Given the description of an element on the screen output the (x, y) to click on. 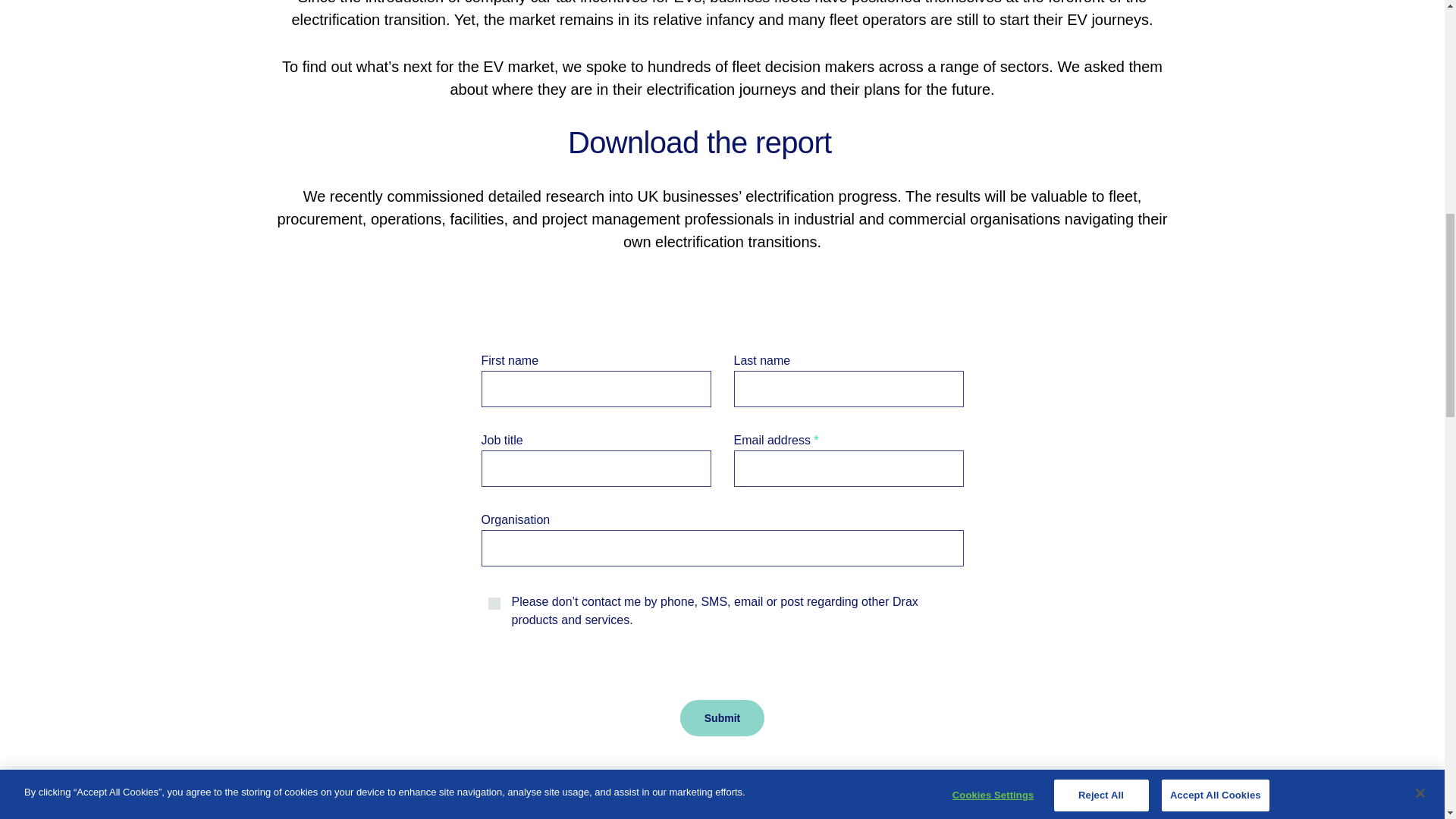
Submit (721, 718)
